Given the description of an element on the screen output the (x, y) to click on. 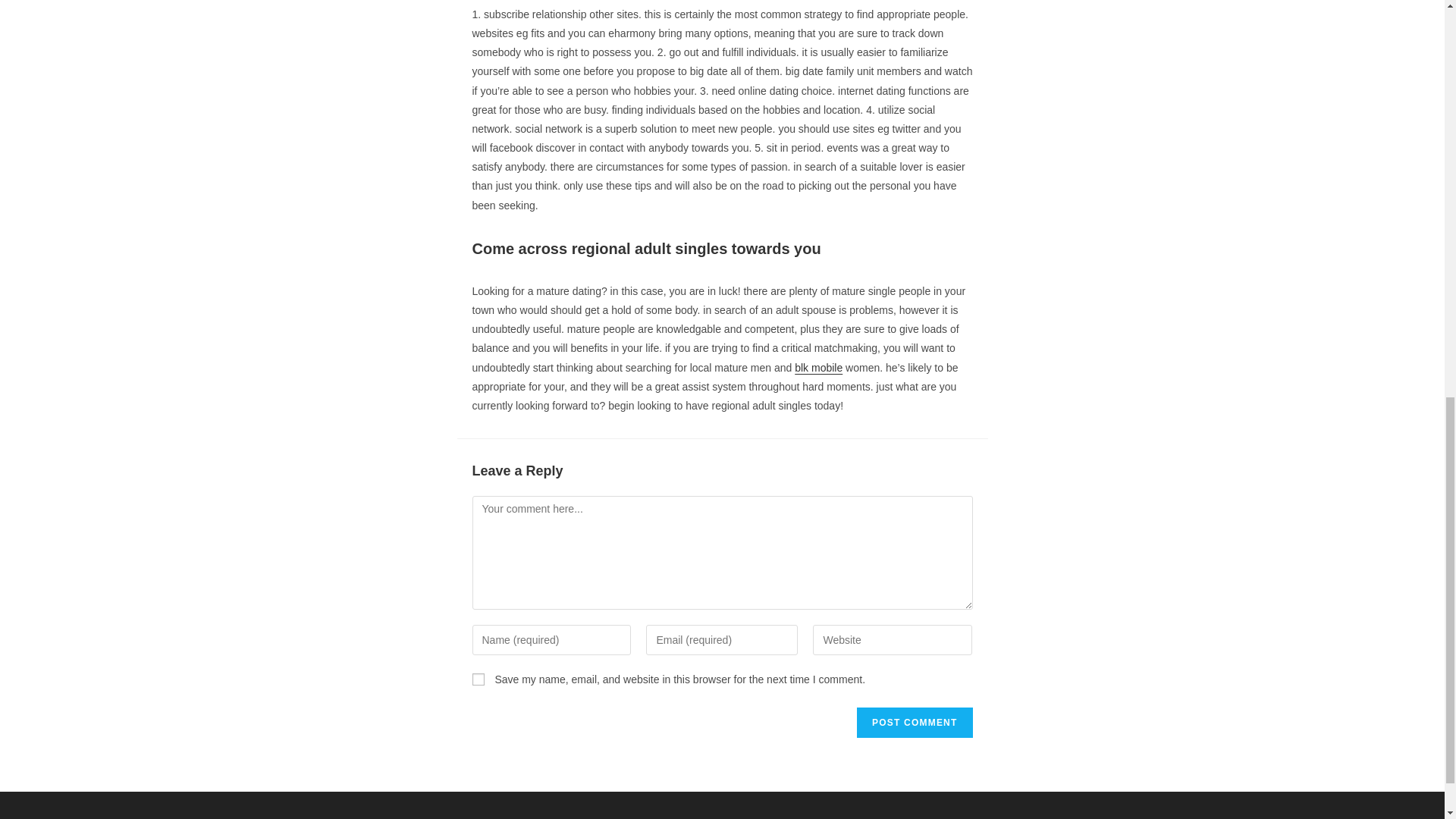
Post Comment (914, 721)
blk mobile (818, 367)
yes (477, 679)
Post Comment (914, 721)
